Given the description of an element on the screen output the (x, y) to click on. 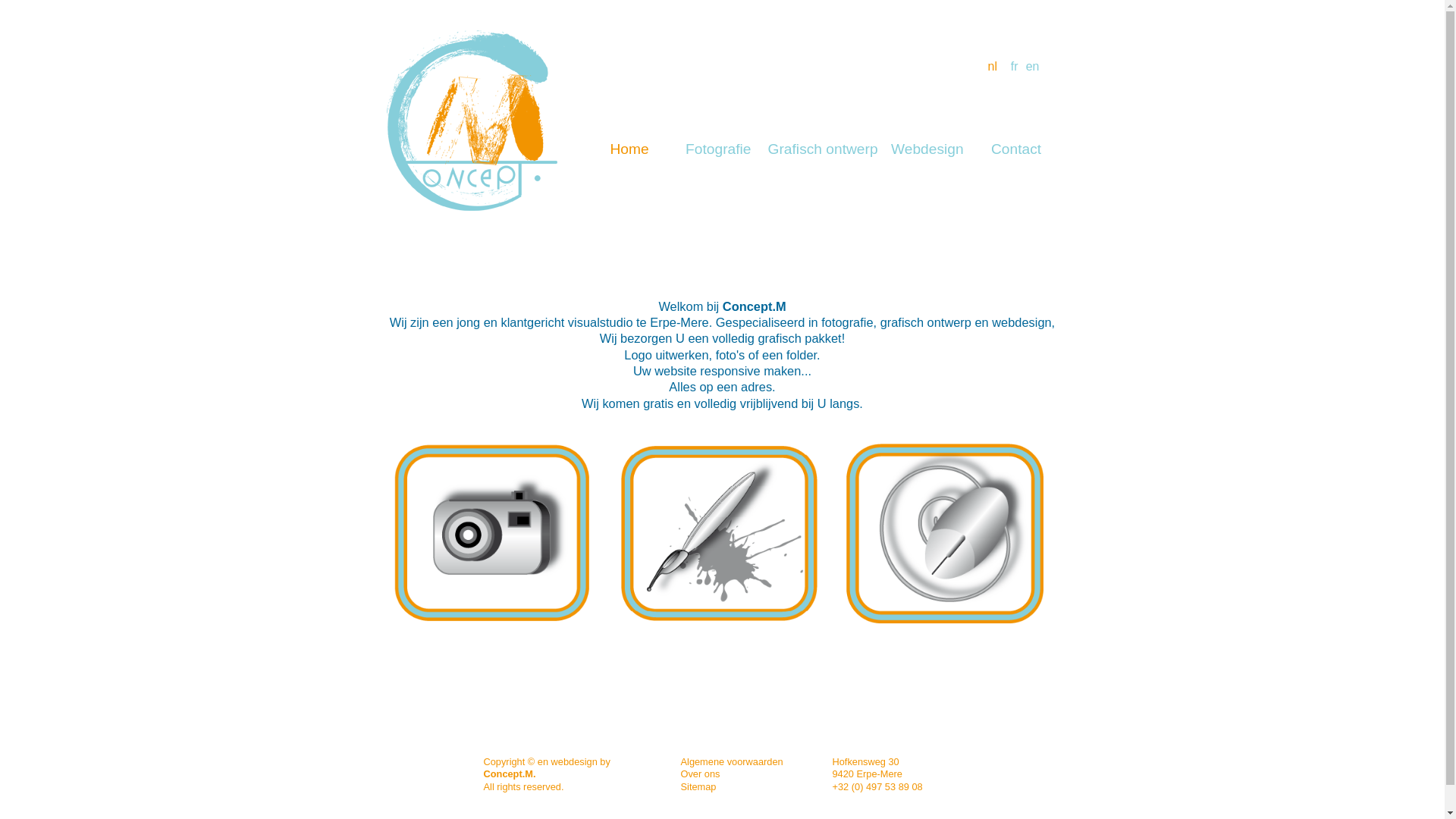
nl Element type: text (986, 66)
Over ons Element type: text (700, 773)
fr Element type: text (1007, 66)
Webdesign Element type: text (926, 148)
Algemene voorwaarden Element type: text (731, 761)
Concept.M Element type: hover (471, 120)
Fotografie Element type: hover (492, 532)
Sitemap Element type: text (698, 786)
Fotografie Element type: text (718, 148)
Grafisch ontwerp Element type: hover (719, 533)
Home Element type: text (629, 148)
en Element type: text (1028, 66)
Contact Element type: text (1015, 148)
Grafisch ontwerp Element type: text (822, 148)
Webdesign Element type: hover (945, 533)
